Given the description of an element on the screen output the (x, y) to click on. 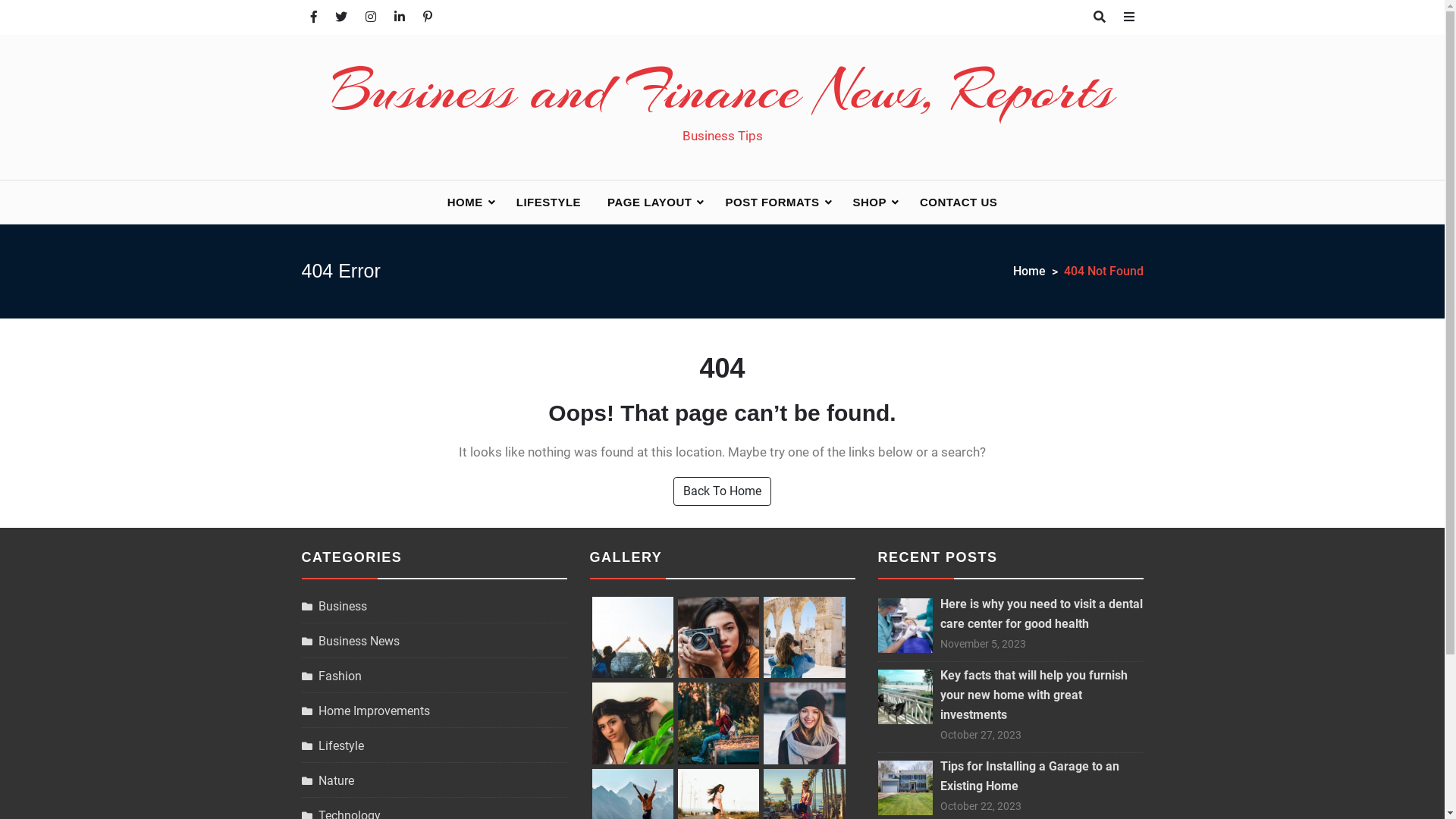
CONTACT US Element type: text (958, 201)
Business News Element type: text (350, 641)
Tips for Installing a Garage to an Existing Home Element type: text (1029, 776)
Home Improvements Element type: text (365, 711)
Fashion Element type: text (331, 676)
Search Element type: text (46, 31)
Back To Home Element type: text (722, 490)
Business and Finance News, Reports Element type: text (721, 90)
Business Element type: text (334, 606)
Nature Element type: text (327, 780)
SHOP Element type: text (873, 201)
Lifestyle Element type: text (332, 746)
Home Element type: text (1038, 271)
HOME Element type: text (468, 201)
LIFESTYLE Element type: text (548, 201)
POST FORMATS Element type: text (774, 201)
PAGE LAYOUT Element type: text (652, 201)
